Given the description of an element on the screen output the (x, y) to click on. 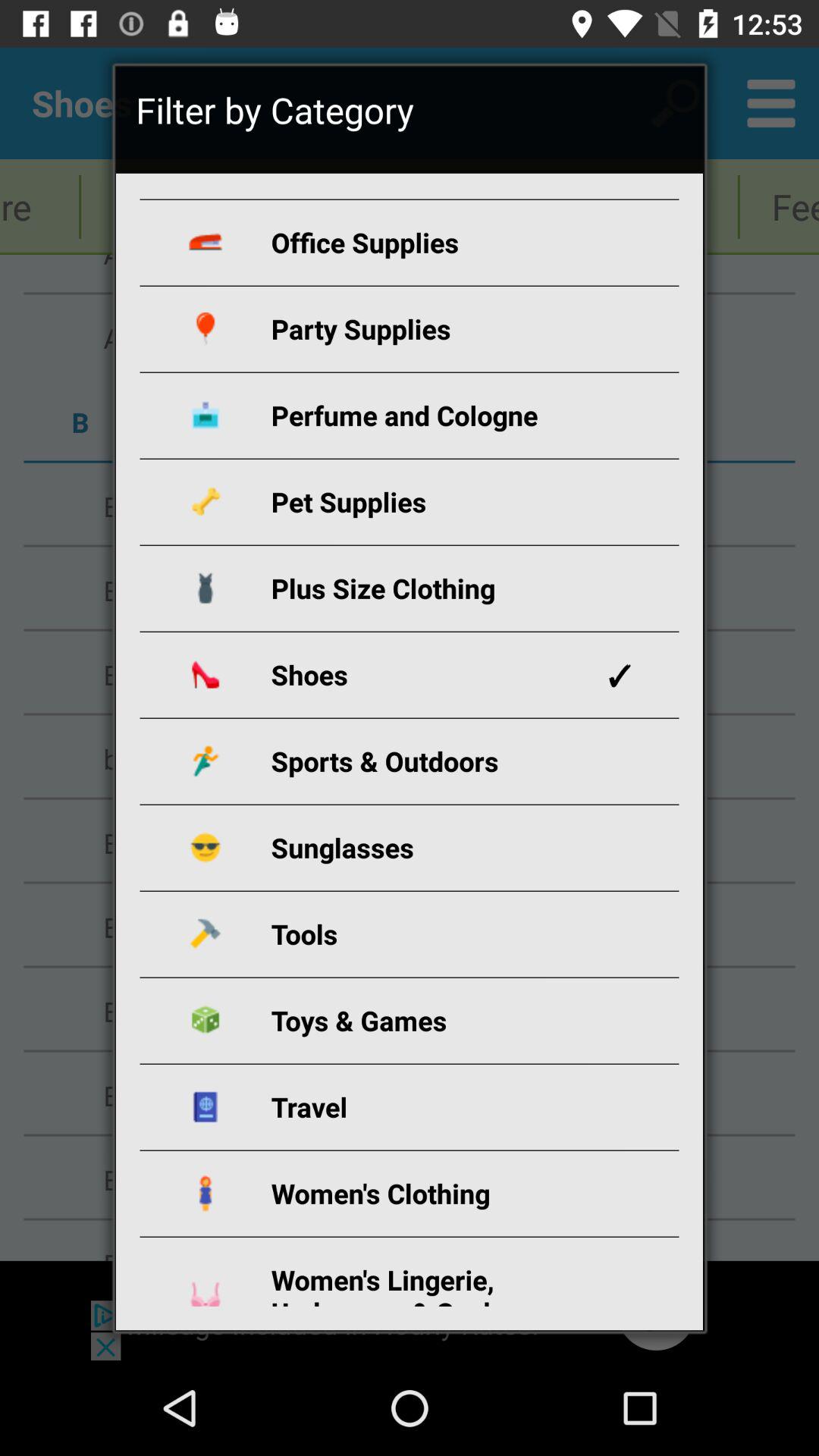
select item next to shoes icon (619, 674)
